Given the description of an element on the screen output the (x, y) to click on. 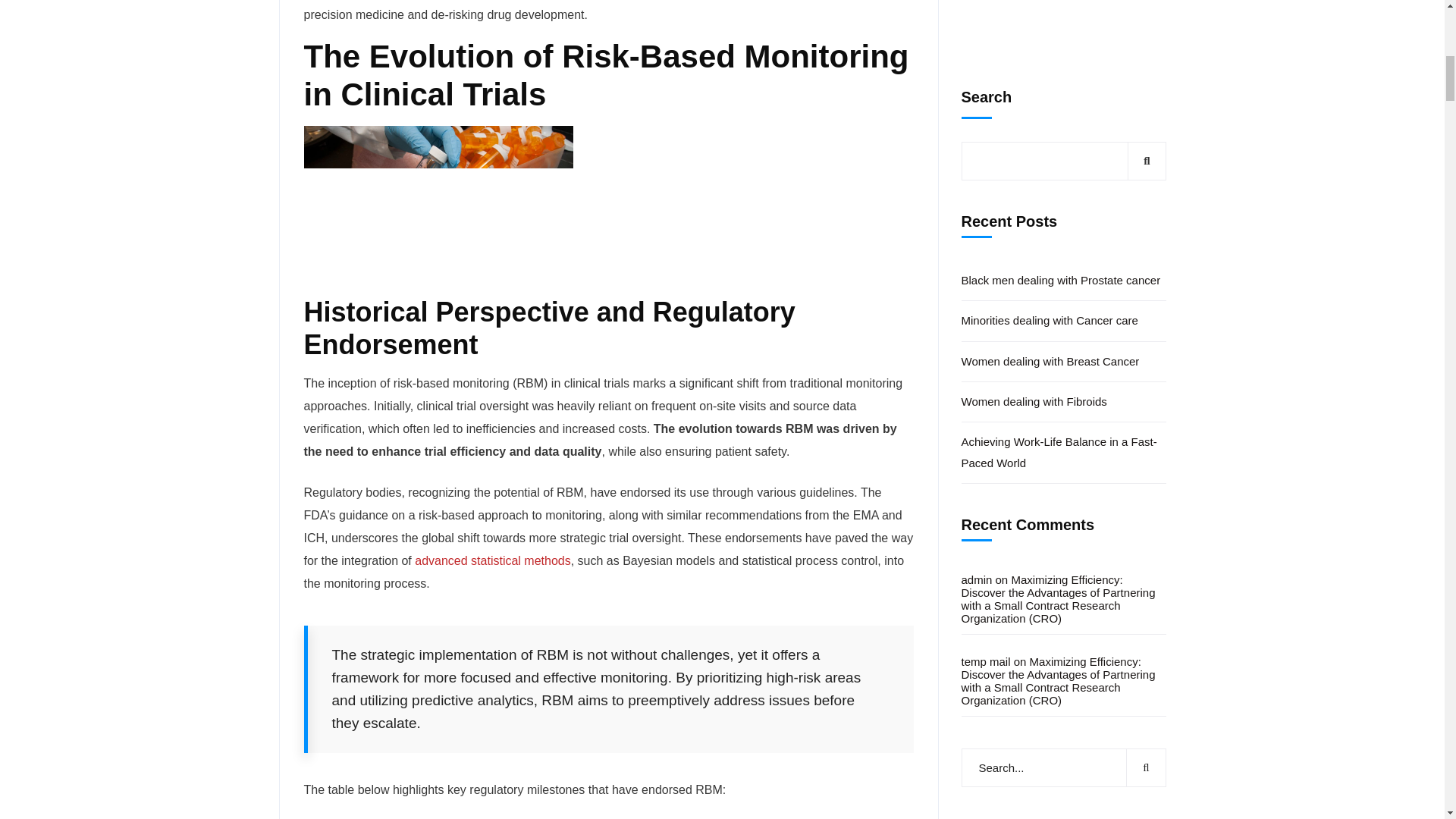
advanced statistical methods (492, 560)
Minorities dealing with Cancer care (1063, 355)
Women dealing with Breast Cancer (1097, 439)
Black men dealing with Prostate cancer (1097, 197)
